Given the description of an element on the screen output the (x, y) to click on. 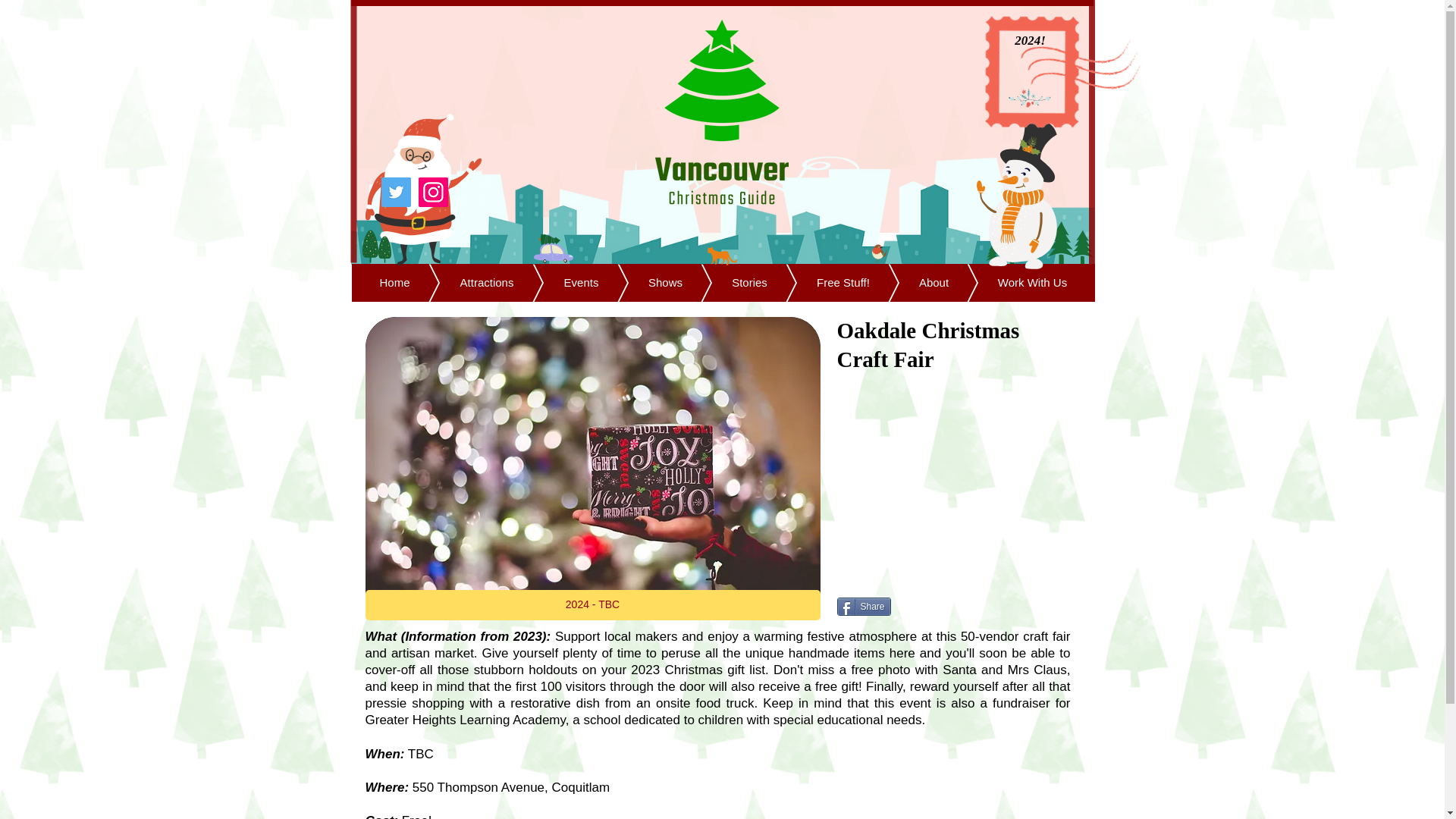
Work With Us (1009, 282)
Free Stuff! (819, 282)
Share (864, 606)
Twitter Tweet (940, 604)
Stories (726, 282)
Home (395, 282)
Shows (642, 282)
Share (864, 606)
Attractions (464, 282)
About (910, 282)
Events (557, 282)
